Given the description of an element on the screen output the (x, y) to click on. 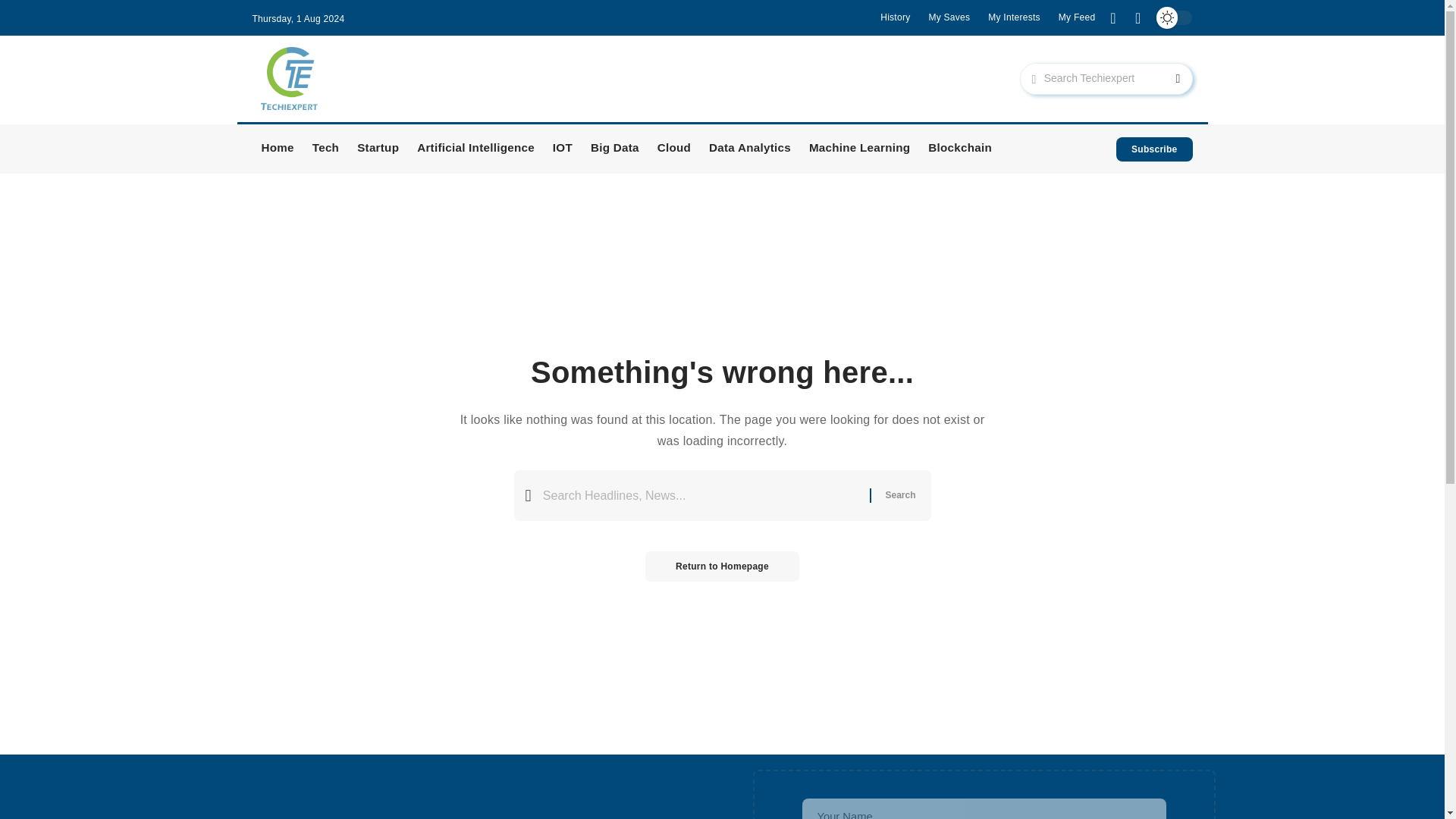
Subscribe (1154, 149)
Cloud (673, 148)
Search (1164, 78)
My Interests (1014, 17)
IOT (561, 148)
Startup (377, 148)
Blockchain (959, 148)
Search (899, 495)
Data Analytics (749, 148)
Home (276, 148)
Machine Learning (858, 148)
History (895, 17)
Tech (324, 148)
My Saves (948, 17)
My Feed (1077, 17)
